Given the description of an element on the screen output the (x, y) to click on. 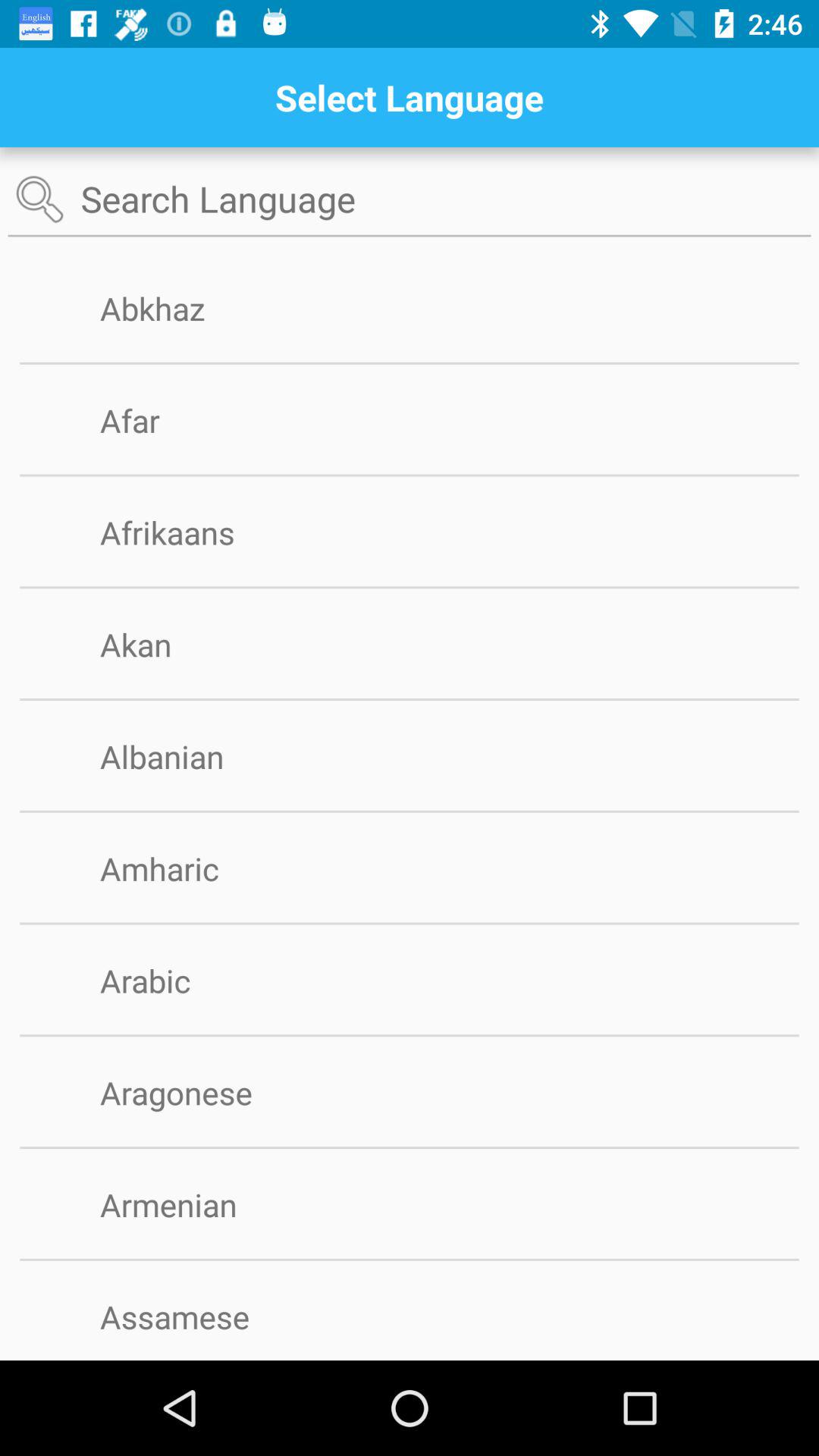
turn off aragonese app (200, 1092)
